Given the description of an element on the screen output the (x, y) to click on. 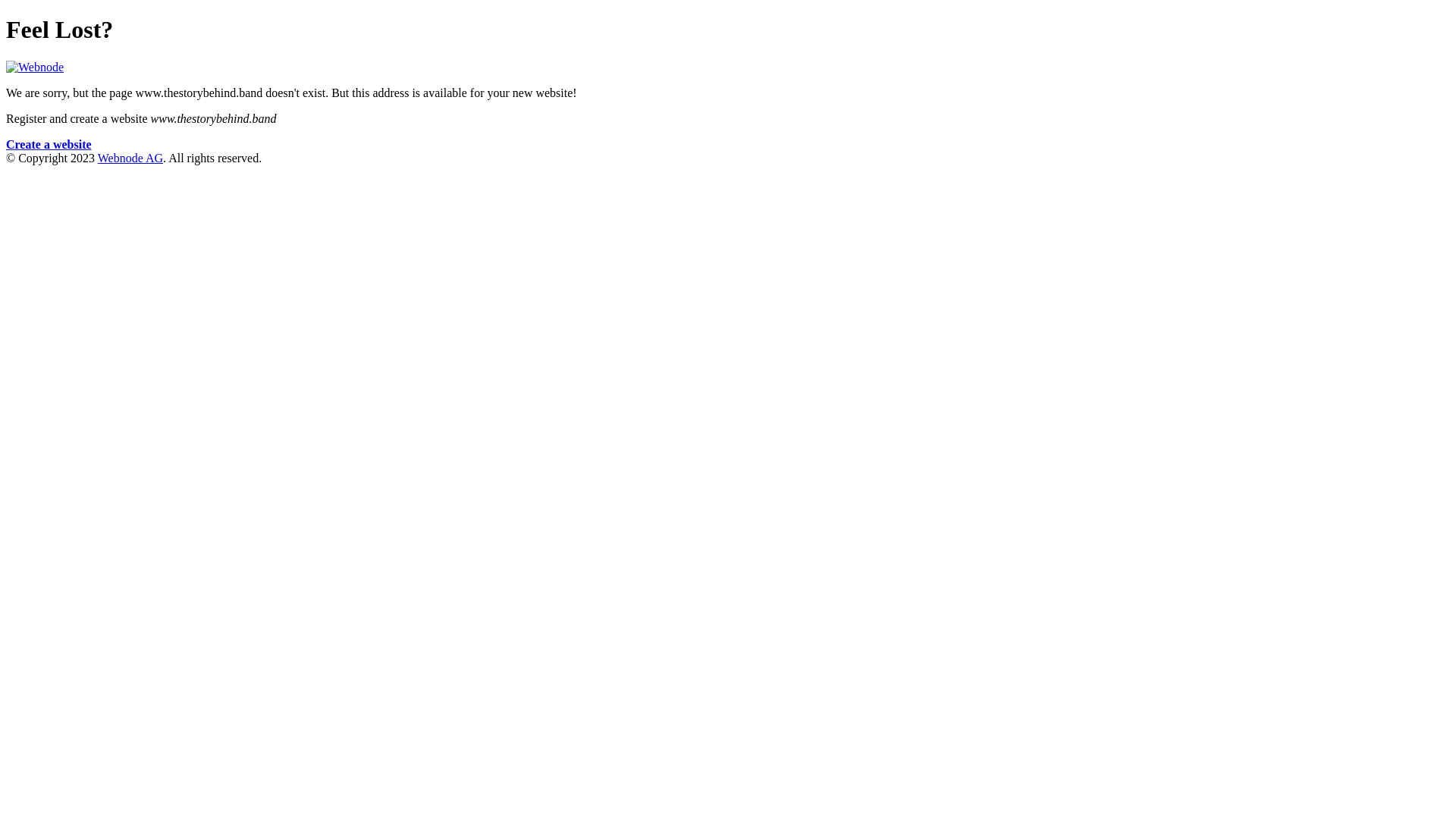
Create a website Element type: text (48, 144)
Webnode AG Element type: text (130, 157)
